Given the description of an element on the screen output the (x, y) to click on. 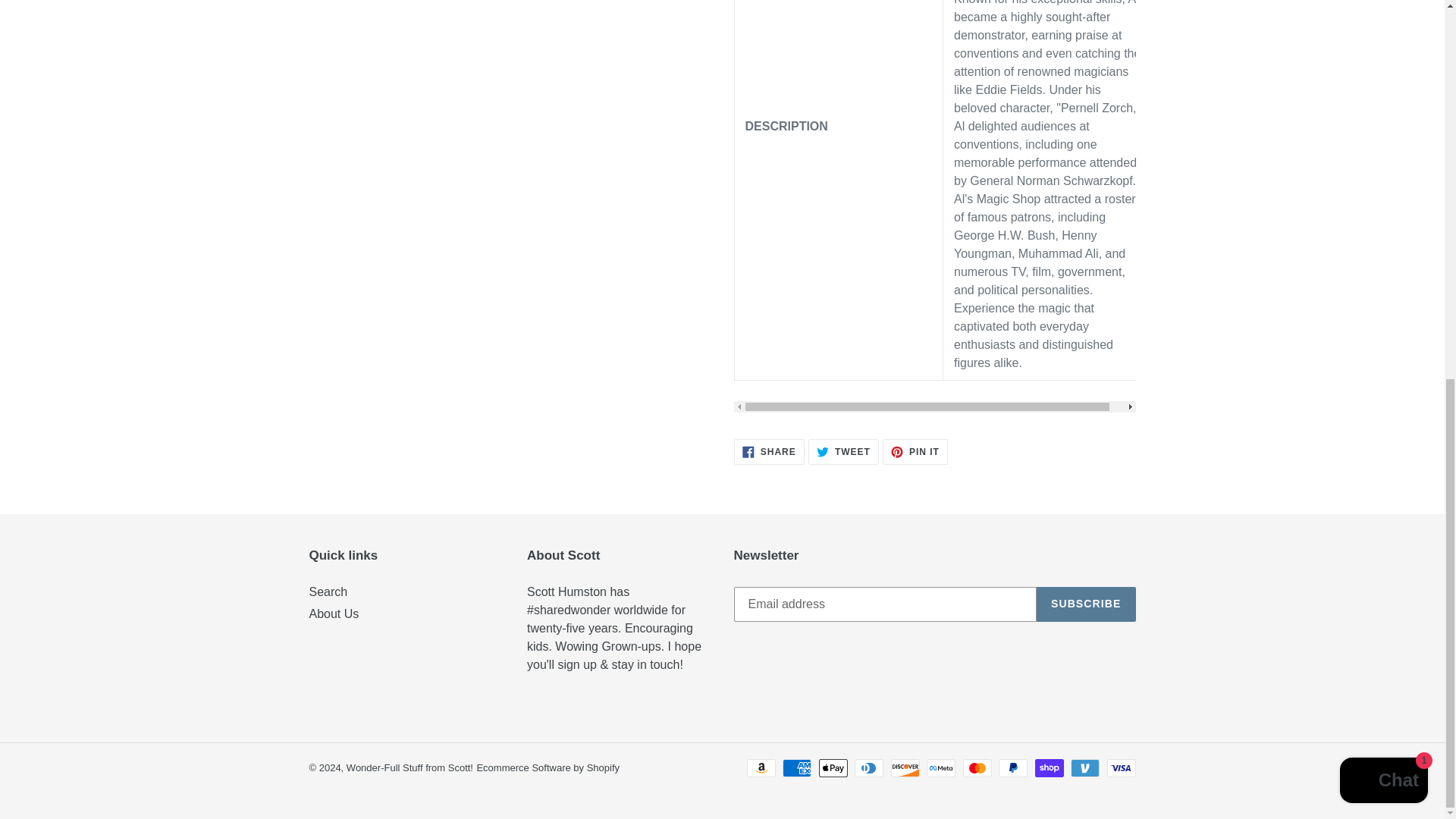
Ecommerce Software by Shopify (548, 767)
Shopify online store chat (1383, 78)
SUBSCRIBE (843, 451)
Search (769, 451)
About Us (1085, 604)
Wonder-Full Stuff from Scott! (327, 591)
